Given the description of an element on the screen output the (x, y) to click on. 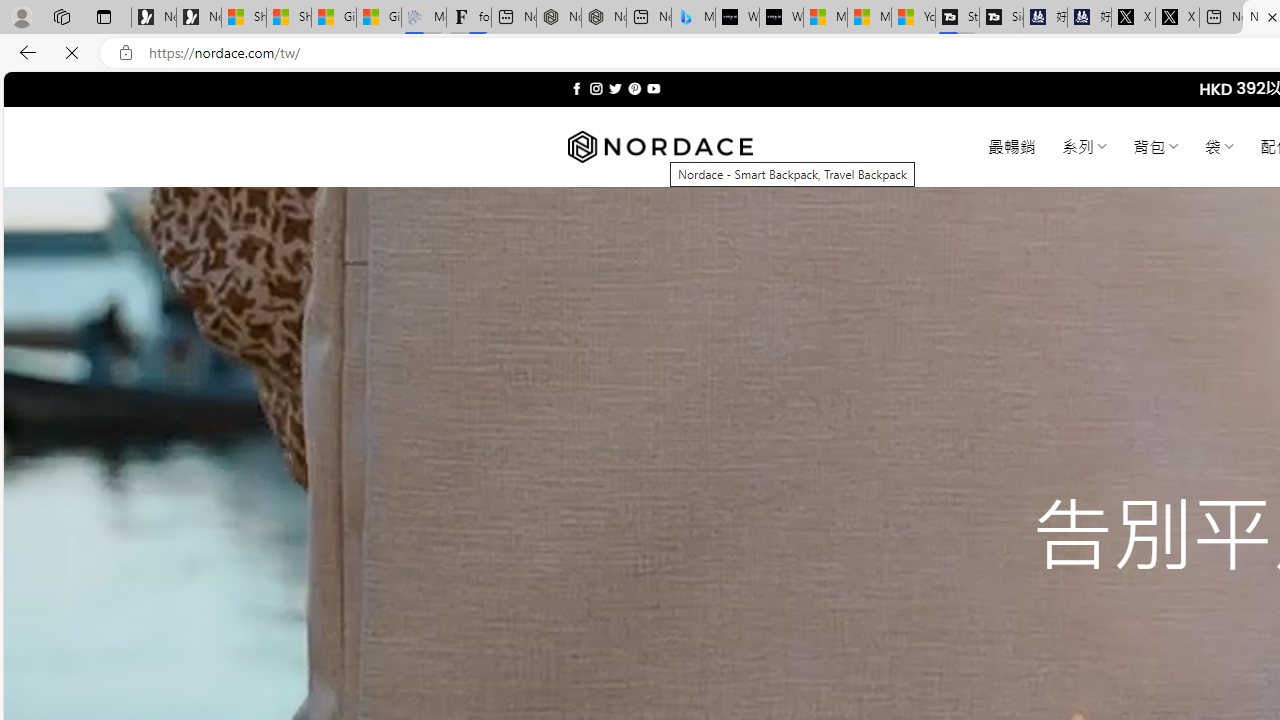
Newsletter Sign Up (198, 17)
Gilma and Hector both pose tropical trouble for Hawaii (378, 17)
